Given the description of an element on the screen output the (x, y) to click on. 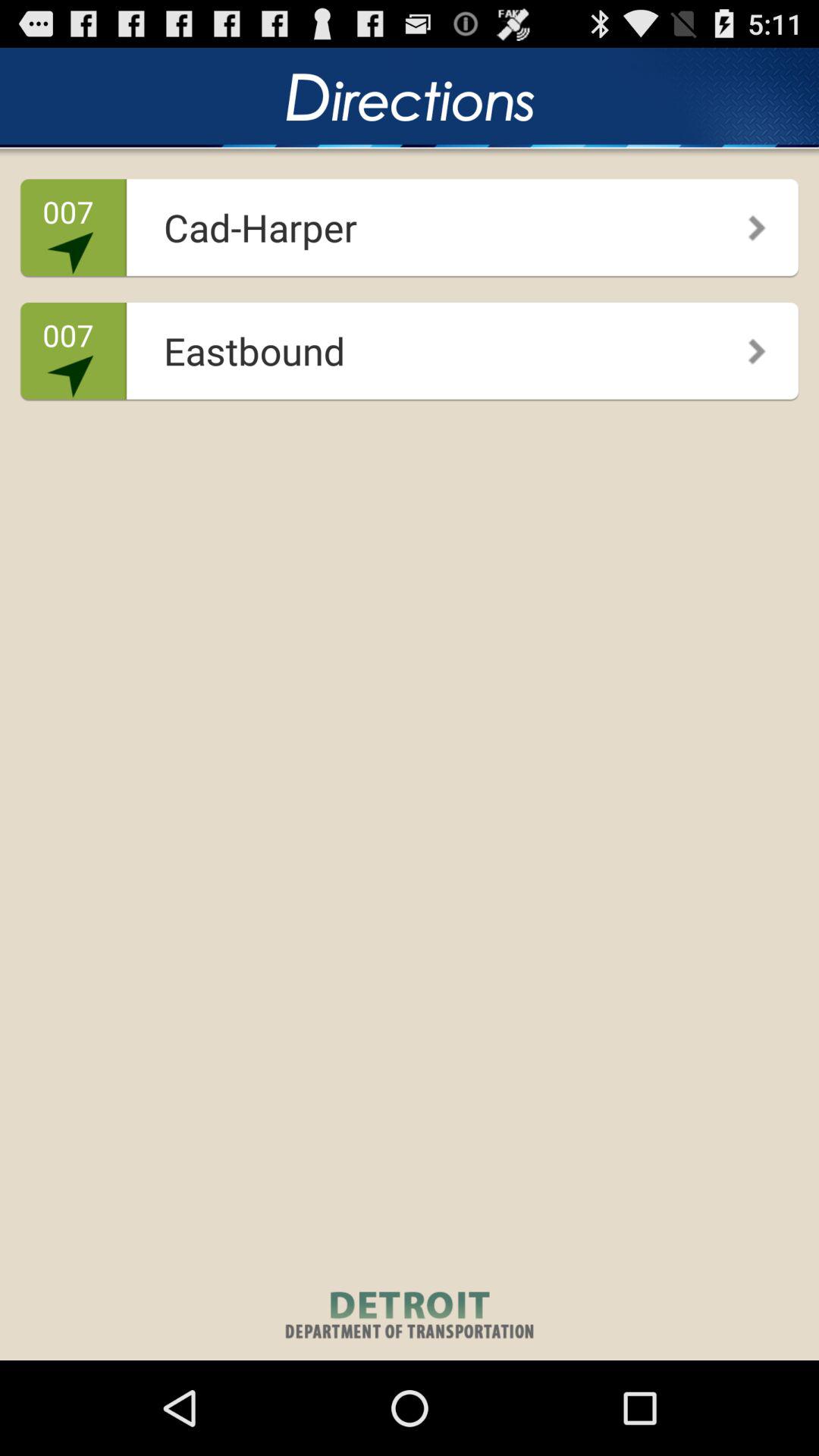
swipe to the cad-harper icon (404, 222)
